Given the description of an element on the screen output the (x, y) to click on. 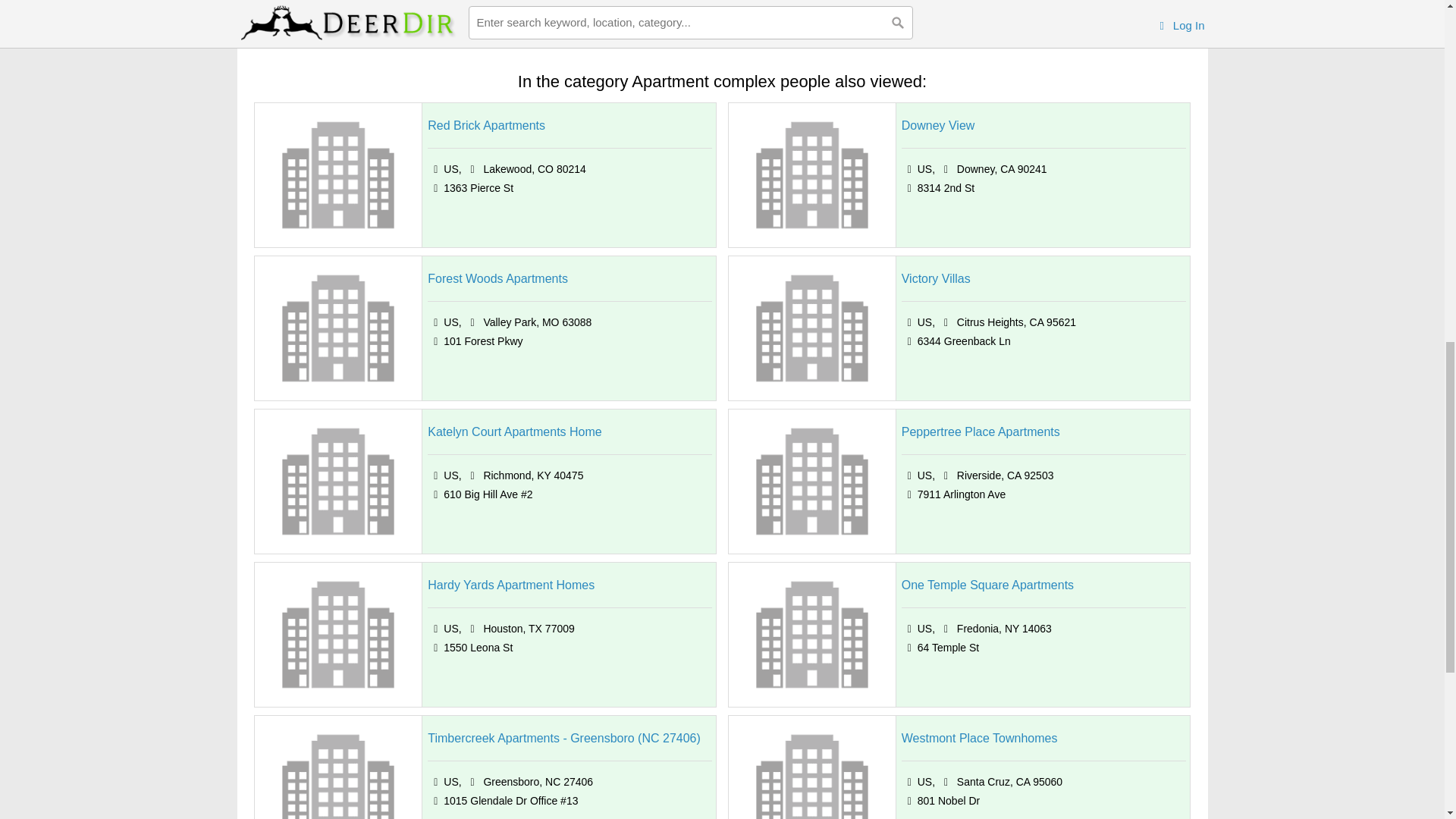
Hardy Yards Apartment Homes (511, 585)
Katelyn Court Apartments Home (514, 432)
Forest Woods Apartments (497, 279)
Red Brick Apartments (486, 125)
Westmont Place Townhomes (979, 738)
Red Brick Apartments (486, 125)
Victory Villas (936, 279)
Downey View (938, 125)
Forest Woods Apartments (497, 279)
Victory Villas (936, 279)
Peppertree Place Apartments (980, 432)
Downey View (938, 125)
One Temple Square Apartments (987, 585)
